Given the description of an element on the screen output the (x, y) to click on. 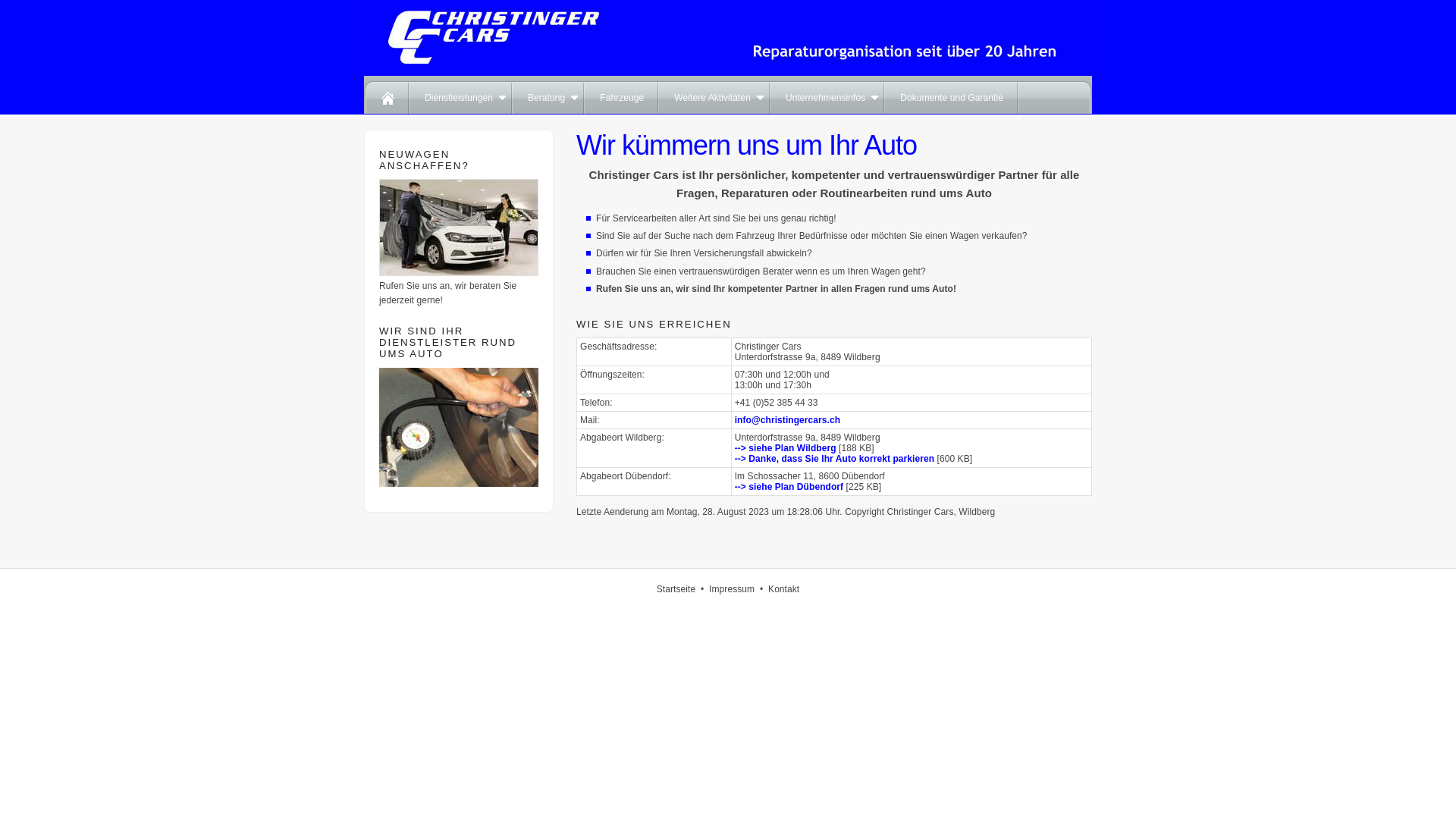
Dienstleistungen Element type: text (460, 94)
Beratung Element type: text (548, 94)
Fahrzeuge Element type: text (621, 94)
  Element type: text (386, 94)
Startseite Element type: text (675, 588)
Unternehmensinfos Element type: text (827, 94)
Dokumente und Garantie Element type: text (951, 94)
Kontakt Element type: text (783, 588)
Impressum Element type: text (731, 588)
--> siehe Plan Wildberg Element type: text (785, 447)
info@christingercars.ch Element type: text (787, 419)
--> Danke, dass Sie Ihr Auto korrekt parkieren Element type: text (834, 458)
